Given the description of an element on the screen output the (x, y) to click on. 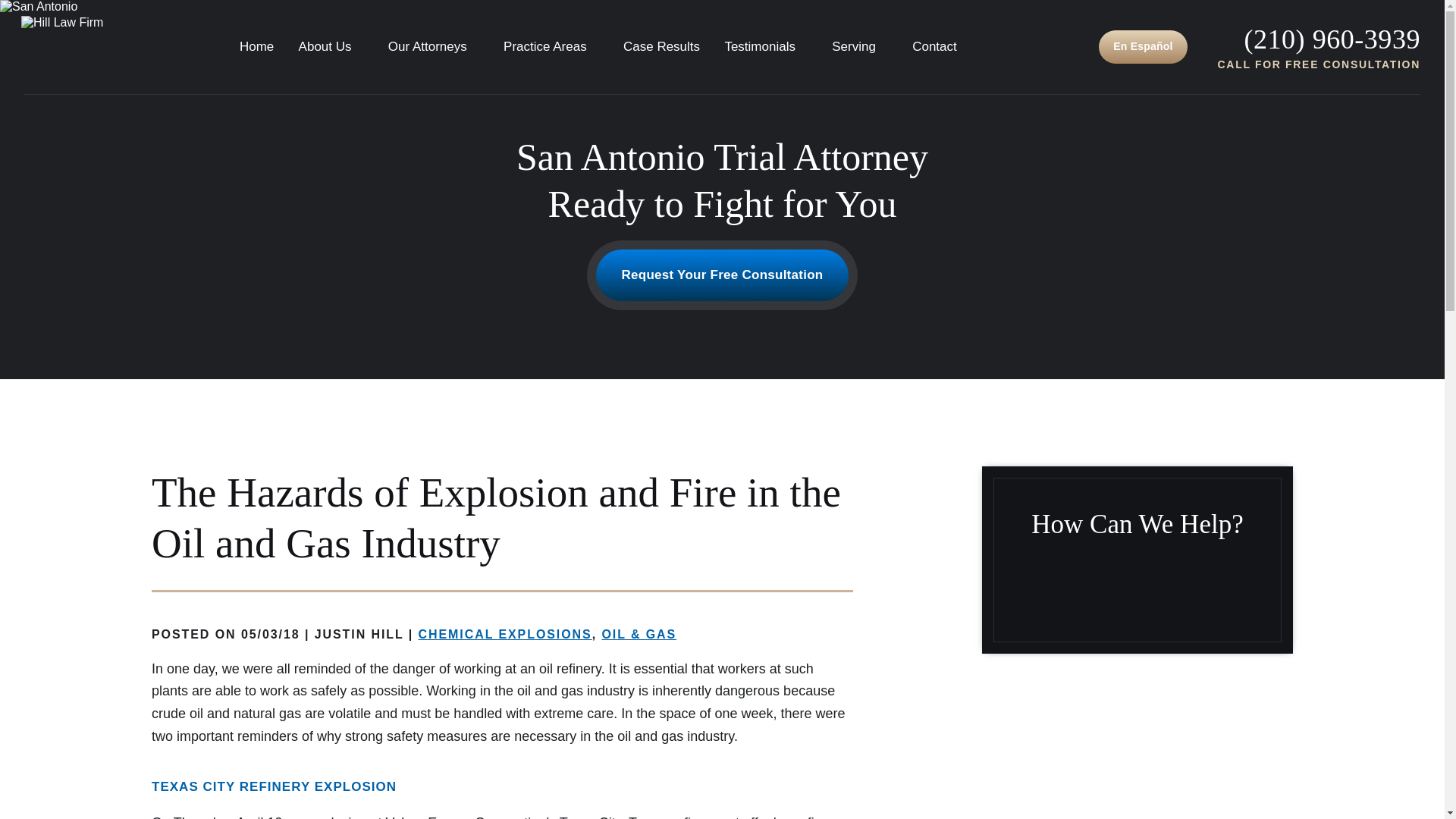
Posts by Justin Hill (359, 634)
Our Attorneys (433, 46)
About Us (331, 46)
Testimonials (765, 46)
Serving (859, 46)
P (1332, 38)
Hill Law Firm (57, 47)
Practice Areas (550, 46)
Home (256, 46)
Case Results (661, 46)
